Given the description of an element on the screen output the (x, y) to click on. 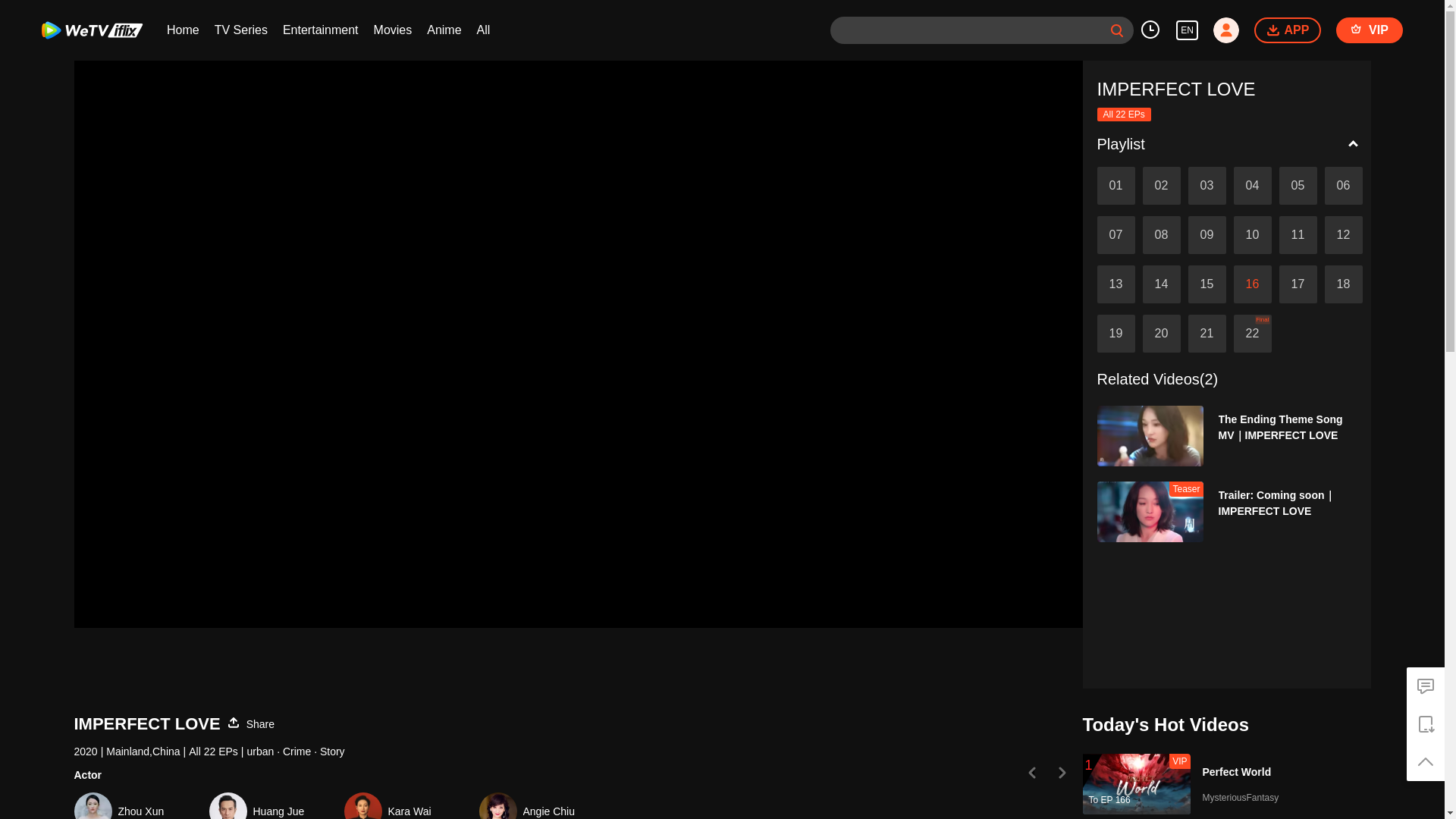
Movies (393, 30)
TV Series (240, 30)
Anime (443, 30)
Entertainment (320, 30)
VIP (1369, 30)
